Given the description of an element on the screen output the (x, y) to click on. 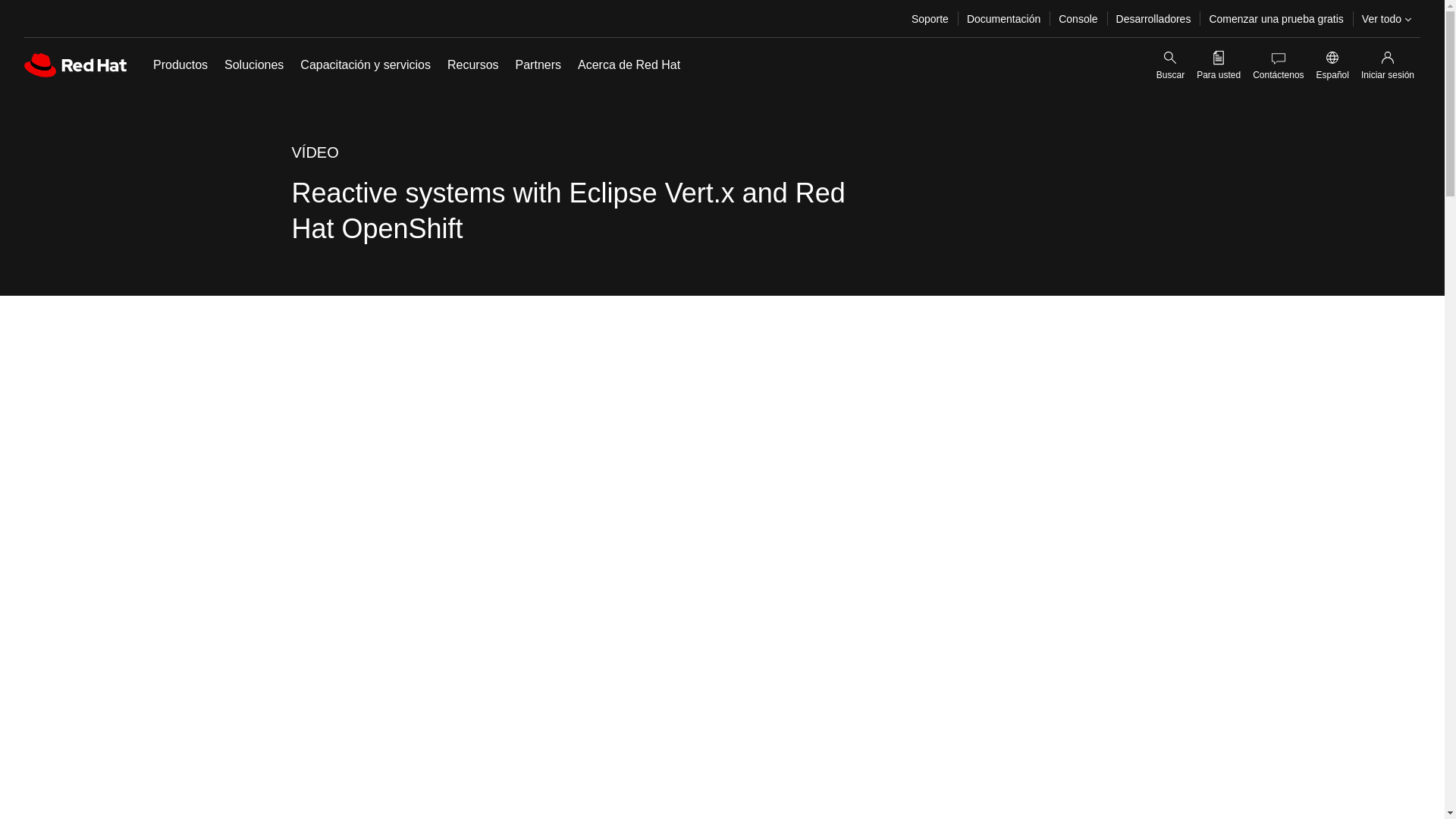
Desarrolladores (1152, 18)
Console (1077, 18)
Soporte (930, 18)
Ver todo (1386, 18)
Comenzar una prueba gratis (1275, 18)
